Given the description of an element on the screen output the (x, y) to click on. 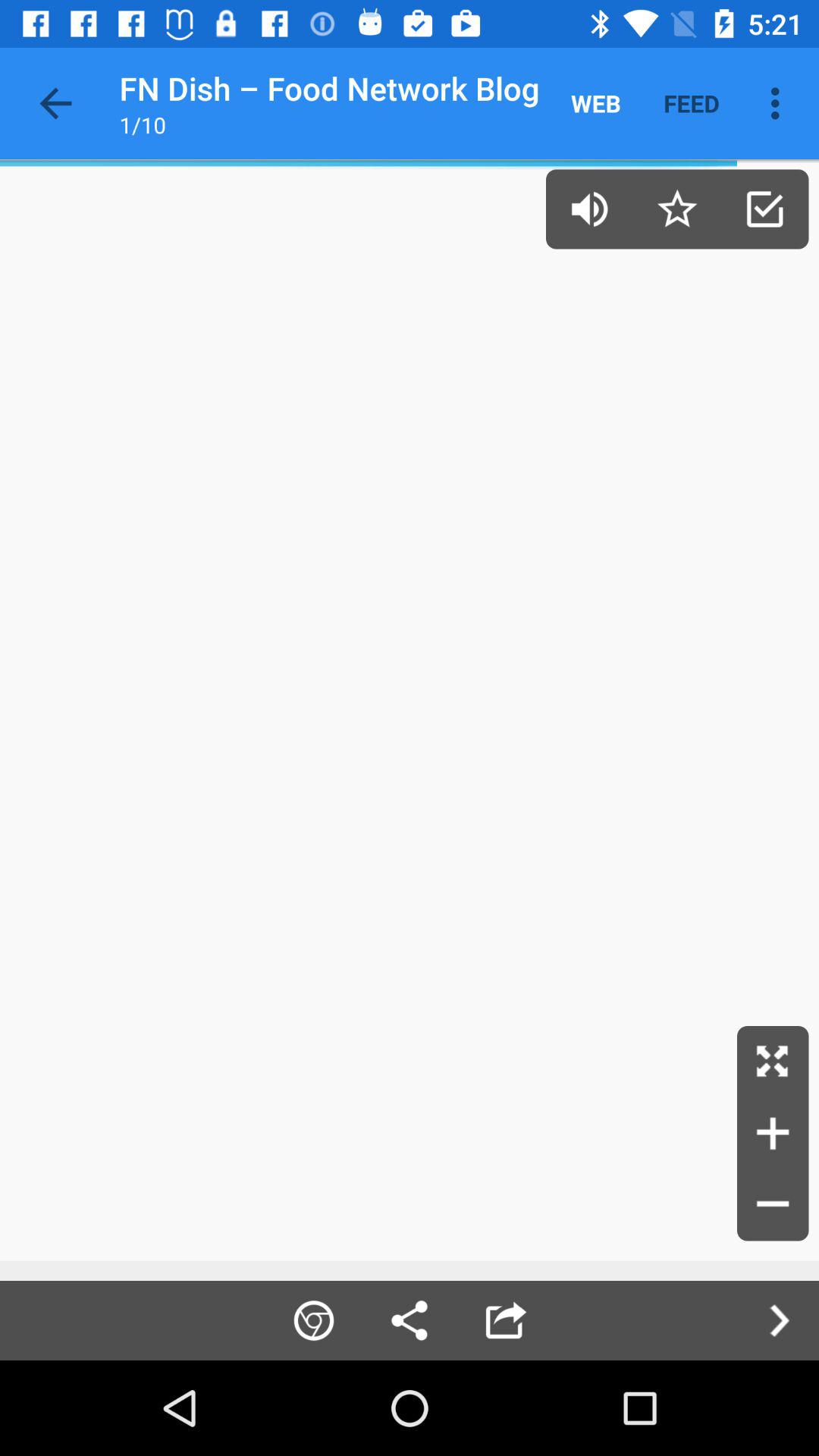
open the item next to feed icon (779, 103)
